Given the description of an element on the screen output the (x, y) to click on. 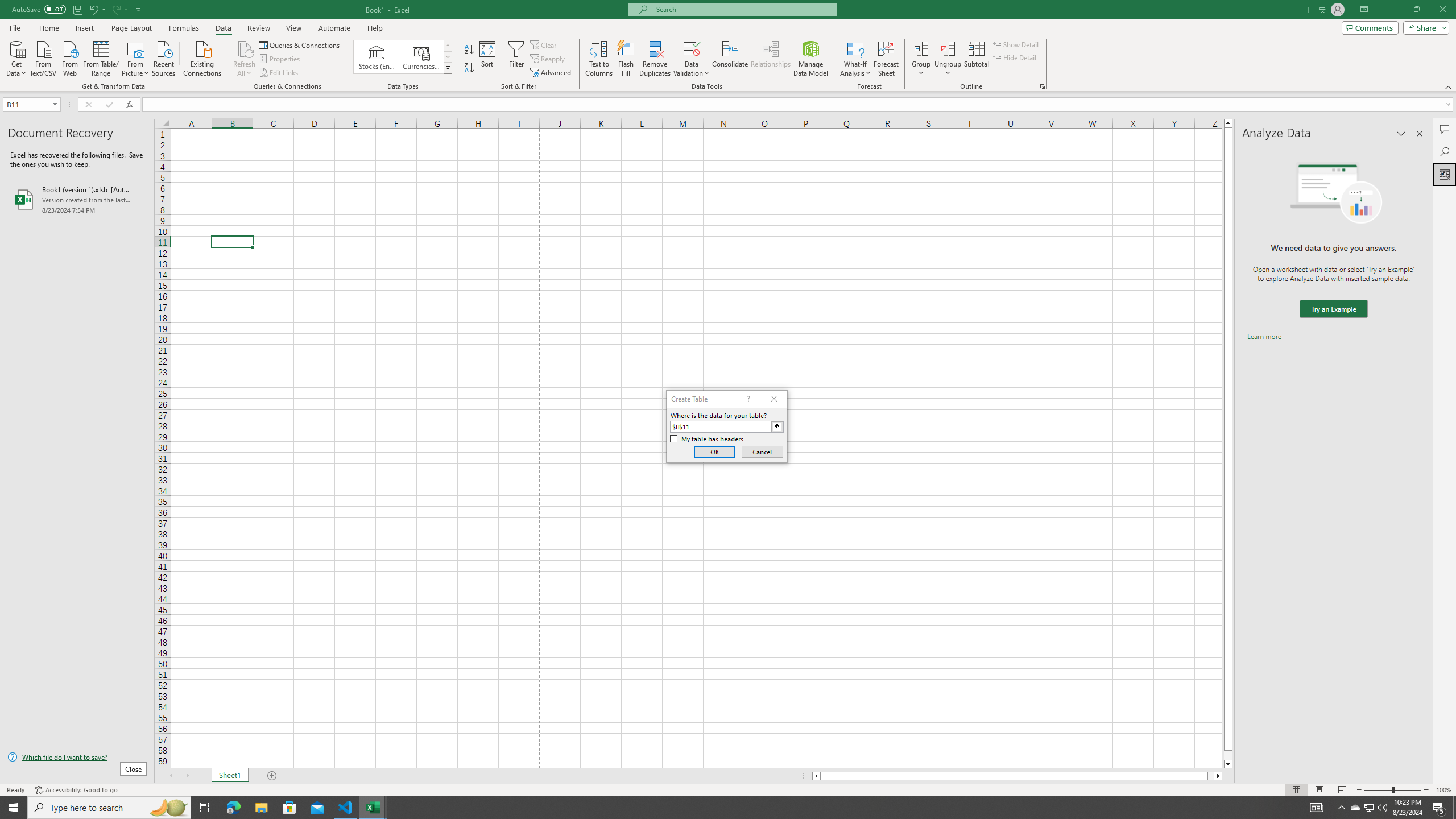
From Picture (135, 57)
Consolidate... (729, 58)
What-If Analysis (855, 58)
Relationships (770, 58)
